Given the description of an element on the screen output the (x, y) to click on. 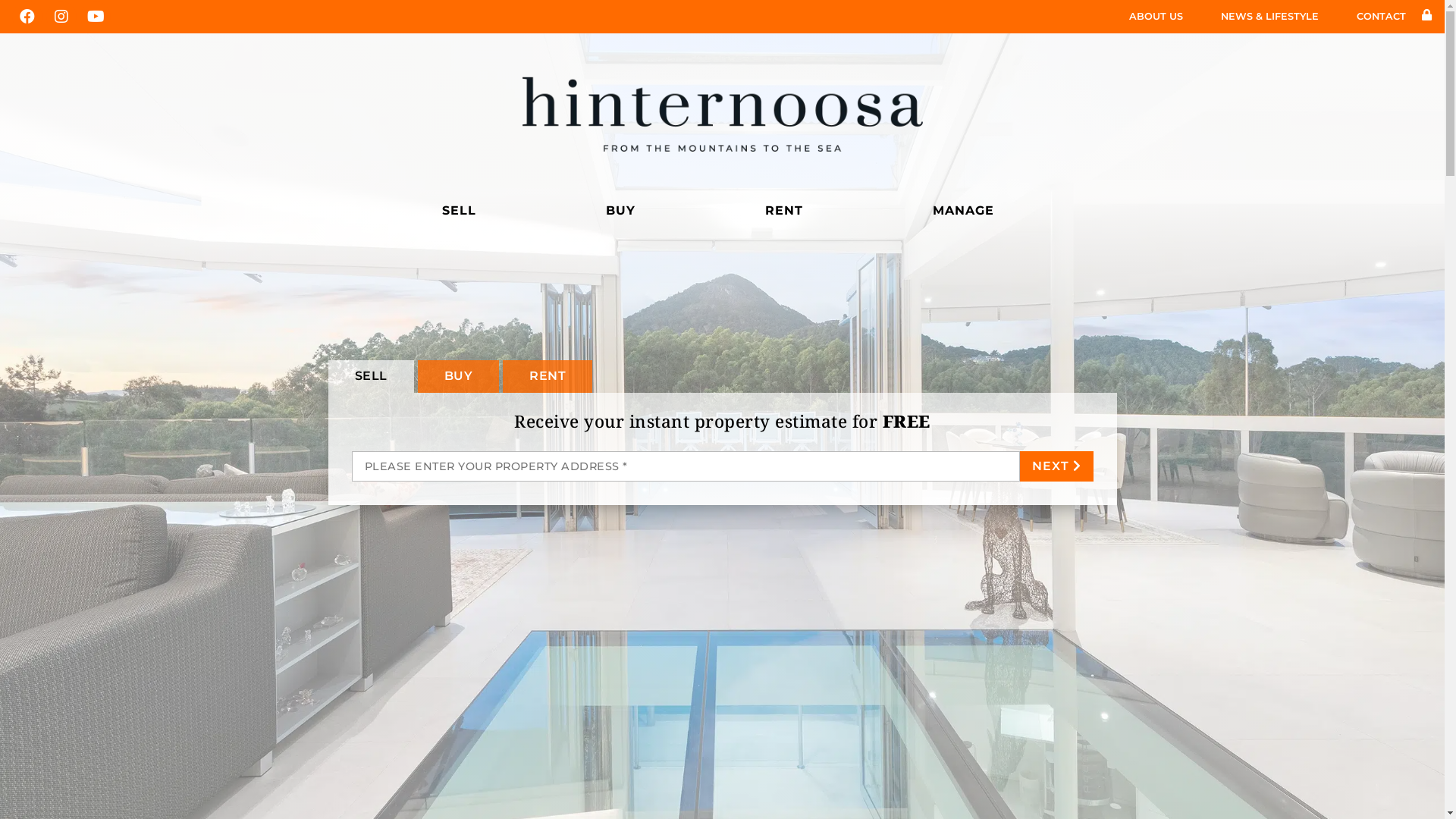
BUY Element type: text (624, 210)
BUY Element type: text (457, 376)
MANAGE Element type: text (967, 210)
SELL Element type: text (463, 210)
NEWS & LIFESTYLE Element type: text (1273, 16)
RENT Element type: text (788, 210)
NEXT Element type: text (1055, 466)
ABOUT US Element type: text (1159, 16)
RENT Element type: text (547, 376)
SELL Element type: text (370, 376)
CONTACT Element type: text (1381, 16)
